Given the description of an element on the screen output the (x, y) to click on. 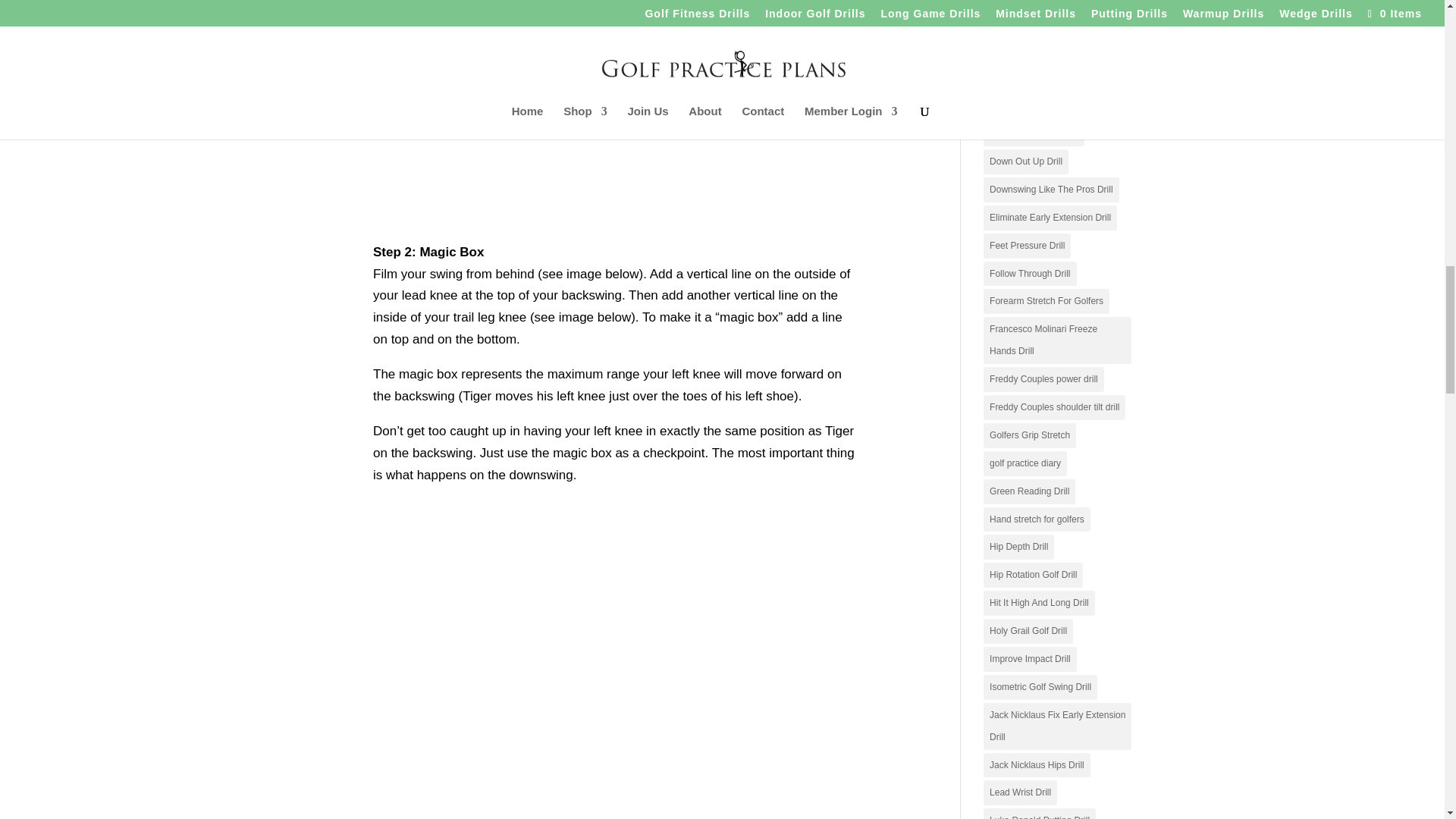
The Most Important Move in Golf - The "Magic Box" (614, 110)
